Given the description of an element on the screen output the (x, y) to click on. 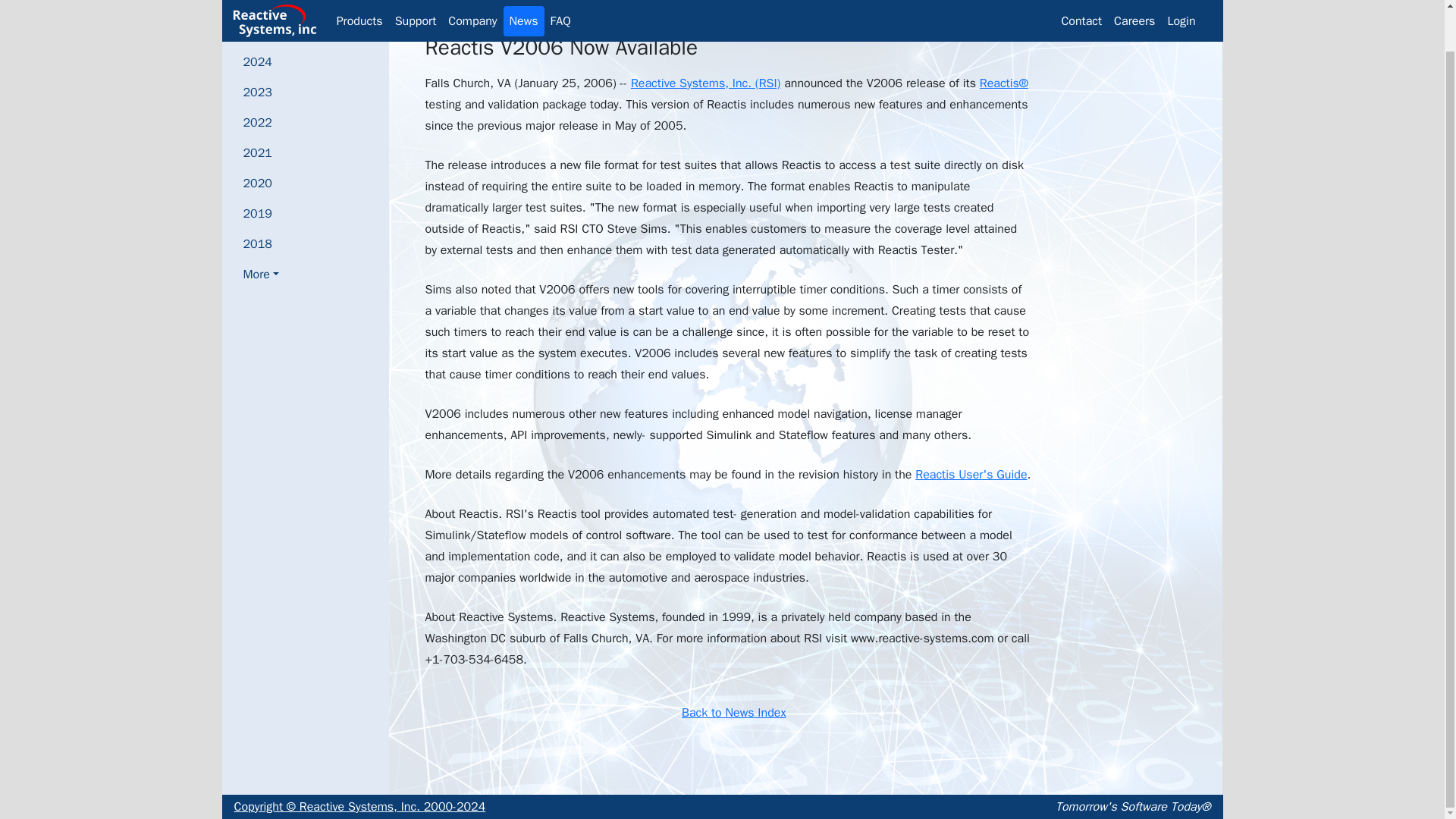
2020 (260, 183)
2023 (260, 91)
2024 (260, 61)
More (260, 274)
2019 (260, 214)
2021 (260, 153)
2022 (260, 122)
2018 (260, 244)
